Given the description of an element on the screen output the (x, y) to click on. 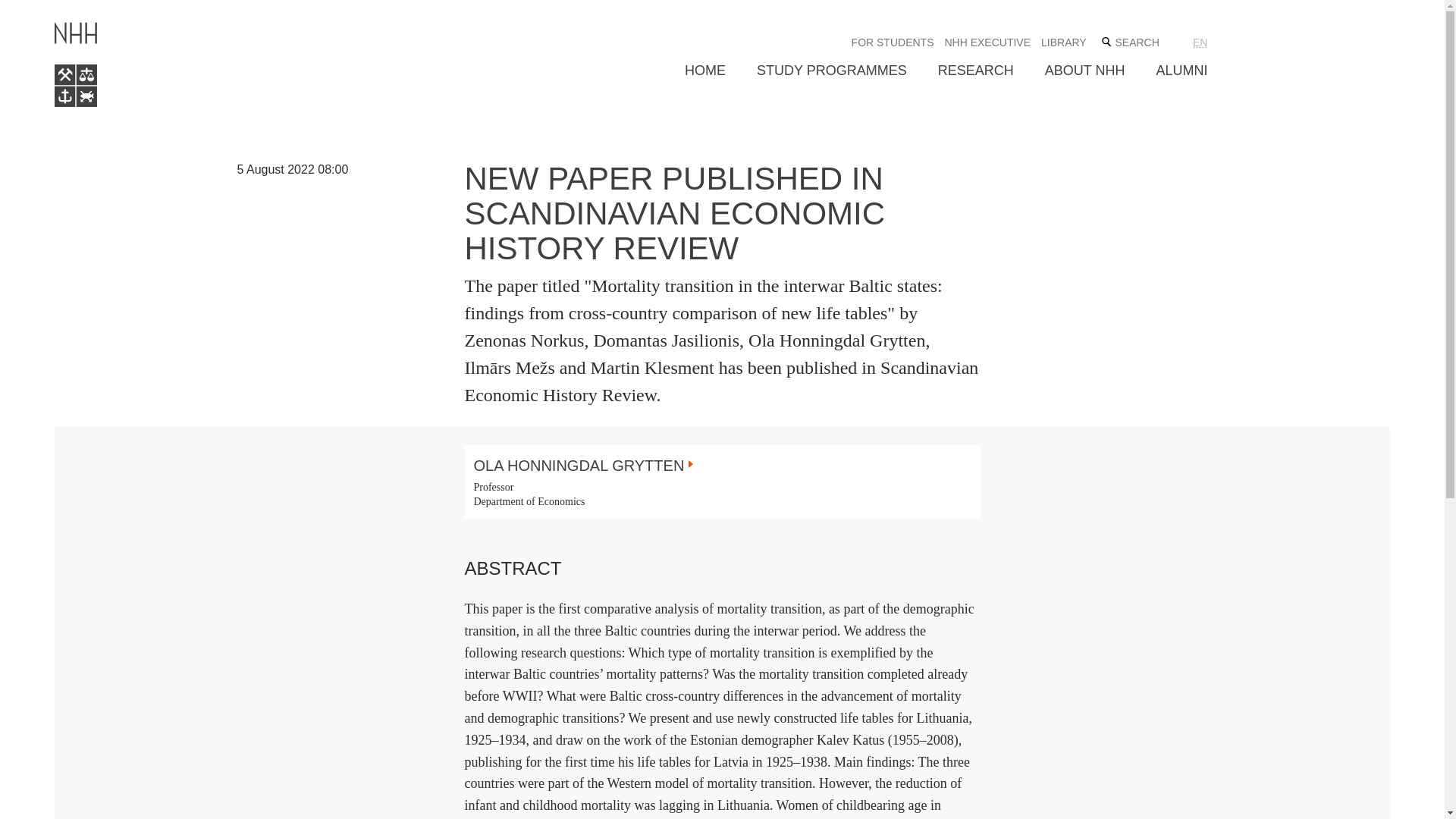
ABOUT NHH (1085, 71)
English (1199, 42)
OLA HONNINGDAL GRYTTEN (582, 465)
ALUMNI (1181, 71)
HOME (704, 71)
NHH EXECUTIVE (986, 41)
STUDY PROGRAMMES (832, 71)
RESEARCH (975, 71)
LIBRARY (1063, 41)
FOR STUDENTS (892, 41)
EN (1199, 41)
